Given the description of an element on the screen output the (x, y) to click on. 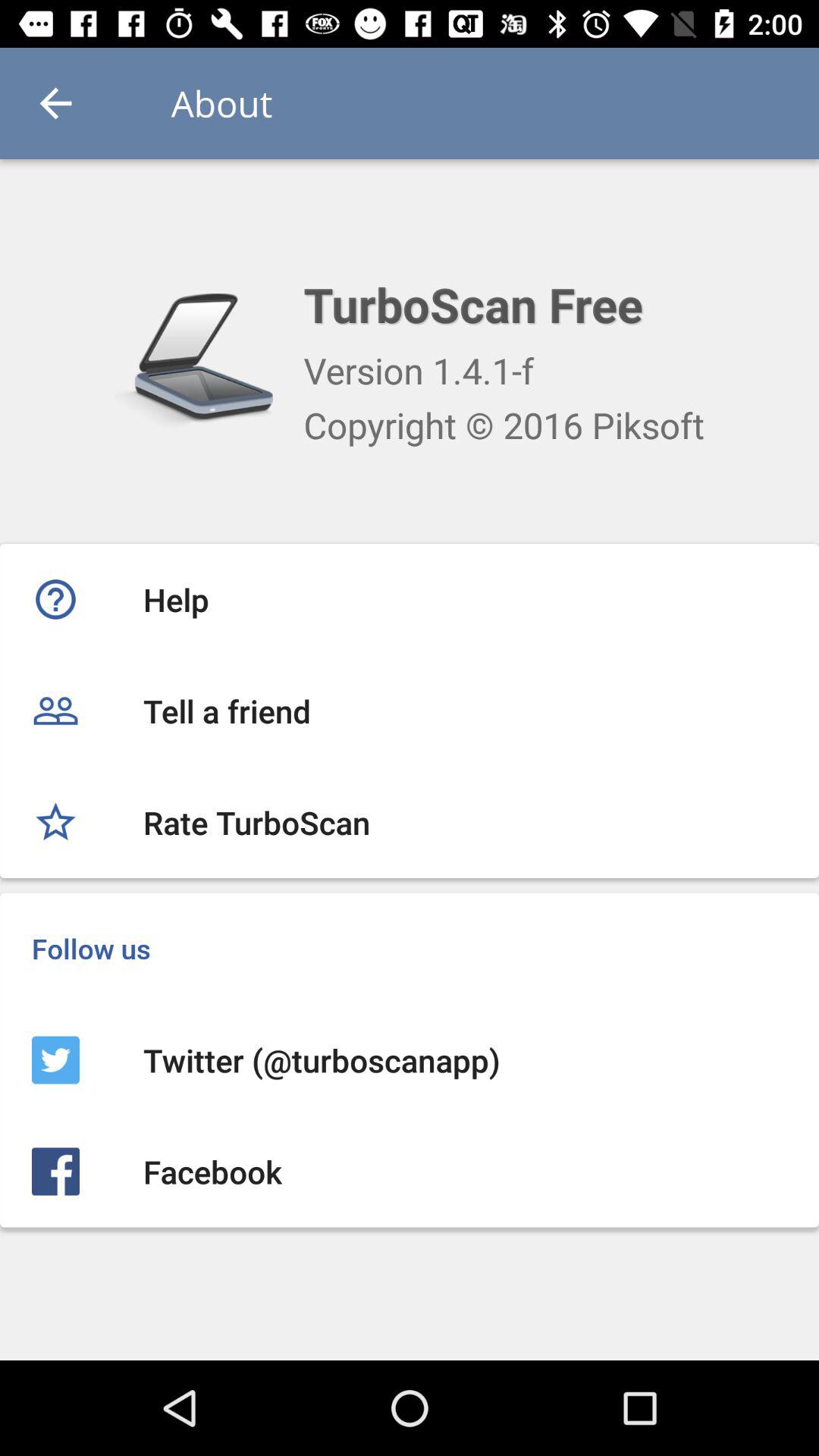
scroll to the version 1 4 item (418, 370)
